Given the description of an element on the screen output the (x, y) to click on. 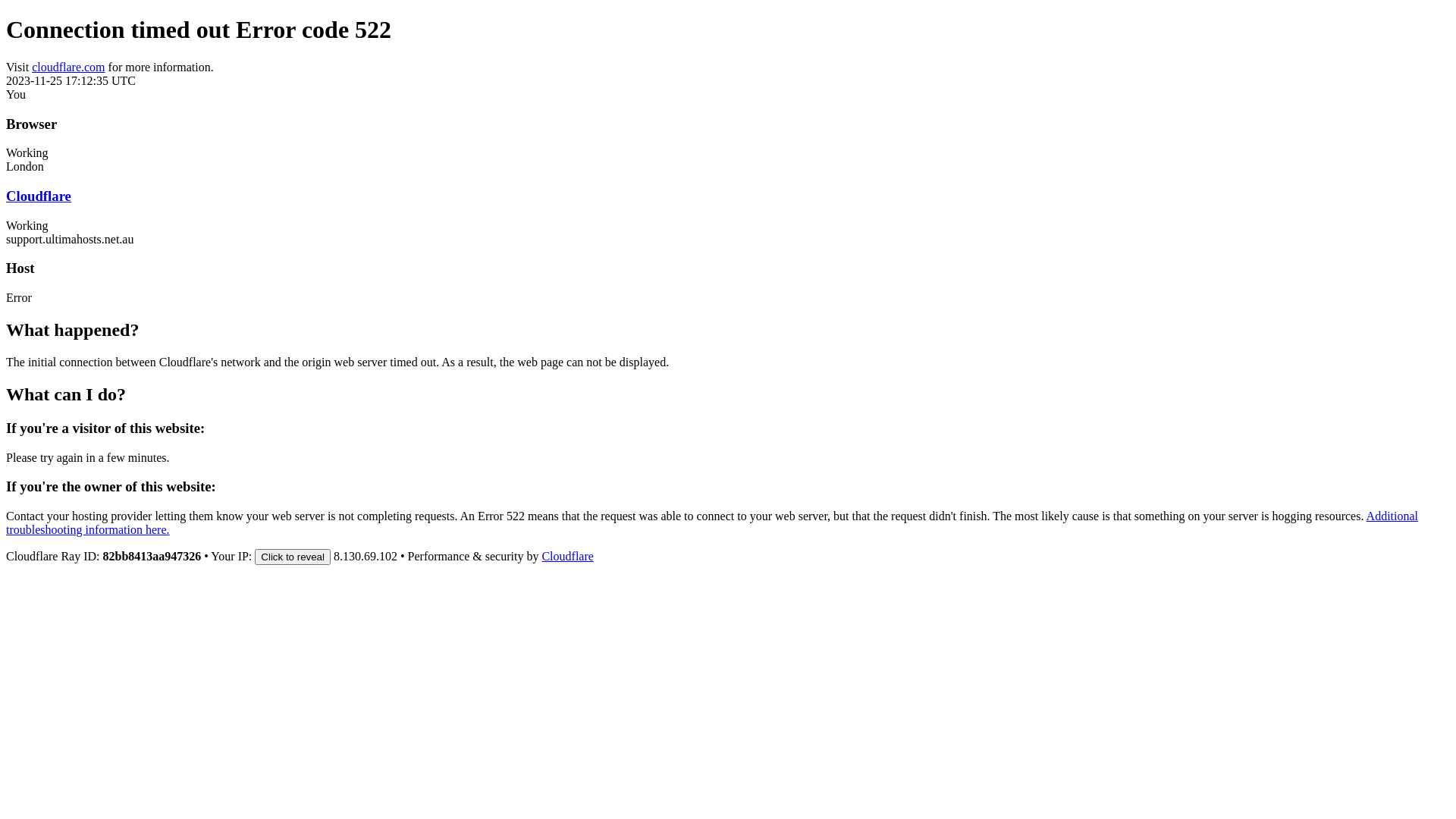
Additional troubleshooting information here. Element type: text (712, 522)
cloudflare.com Element type: text (67, 66)
Cloudflare Element type: text (567, 555)
Cloudflare Element type: text (38, 195)
Click to reveal Element type: text (292, 556)
